Given the description of an element on the screen output the (x, y) to click on. 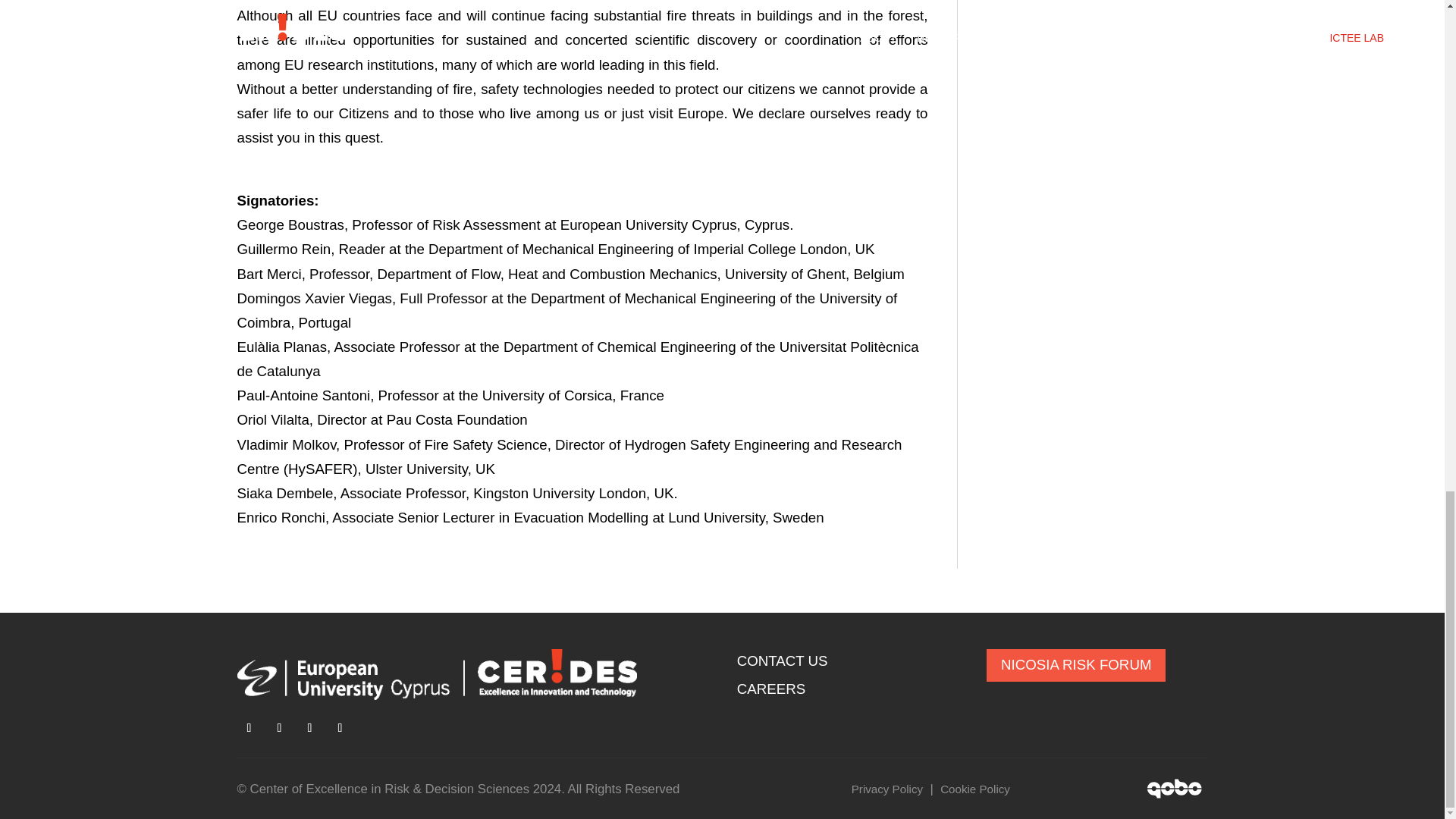
Cookie Policy (975, 788)
Follow on Facebook (247, 727)
CAREERS (770, 689)
Follow on Twitter (278, 727)
CONTACT US (782, 661)
Follow on LinkedIn (309, 727)
NICOSIA RISK FORUM (1076, 665)
Privacy Policy (887, 788)
Follow on Instagram (339, 727)
